Given the description of an element on the screen output the (x, y) to click on. 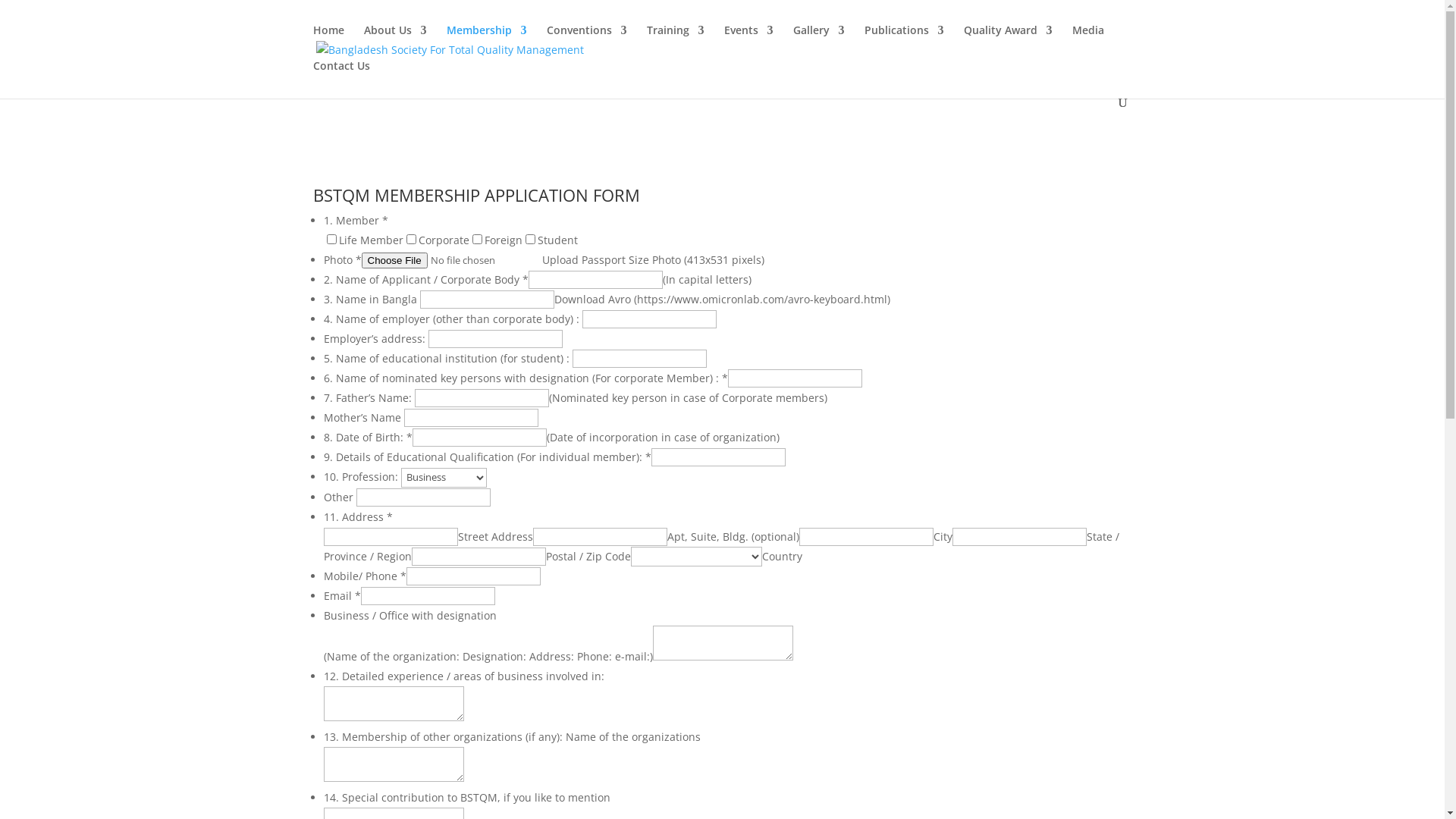
Media Element type: text (1088, 42)
Quality Award Element type: text (1007, 42)
Conventions Element type: text (586, 42)
Events Element type: text (747, 42)
Gallery Element type: text (818, 42)
Home Element type: text (327, 42)
Membership Element type: text (485, 42)
Training Element type: text (674, 42)
Publications Element type: text (904, 42)
Contact Us Element type: text (340, 78)
About Us Element type: text (395, 42)
